Given the description of an element on the screen output the (x, y) to click on. 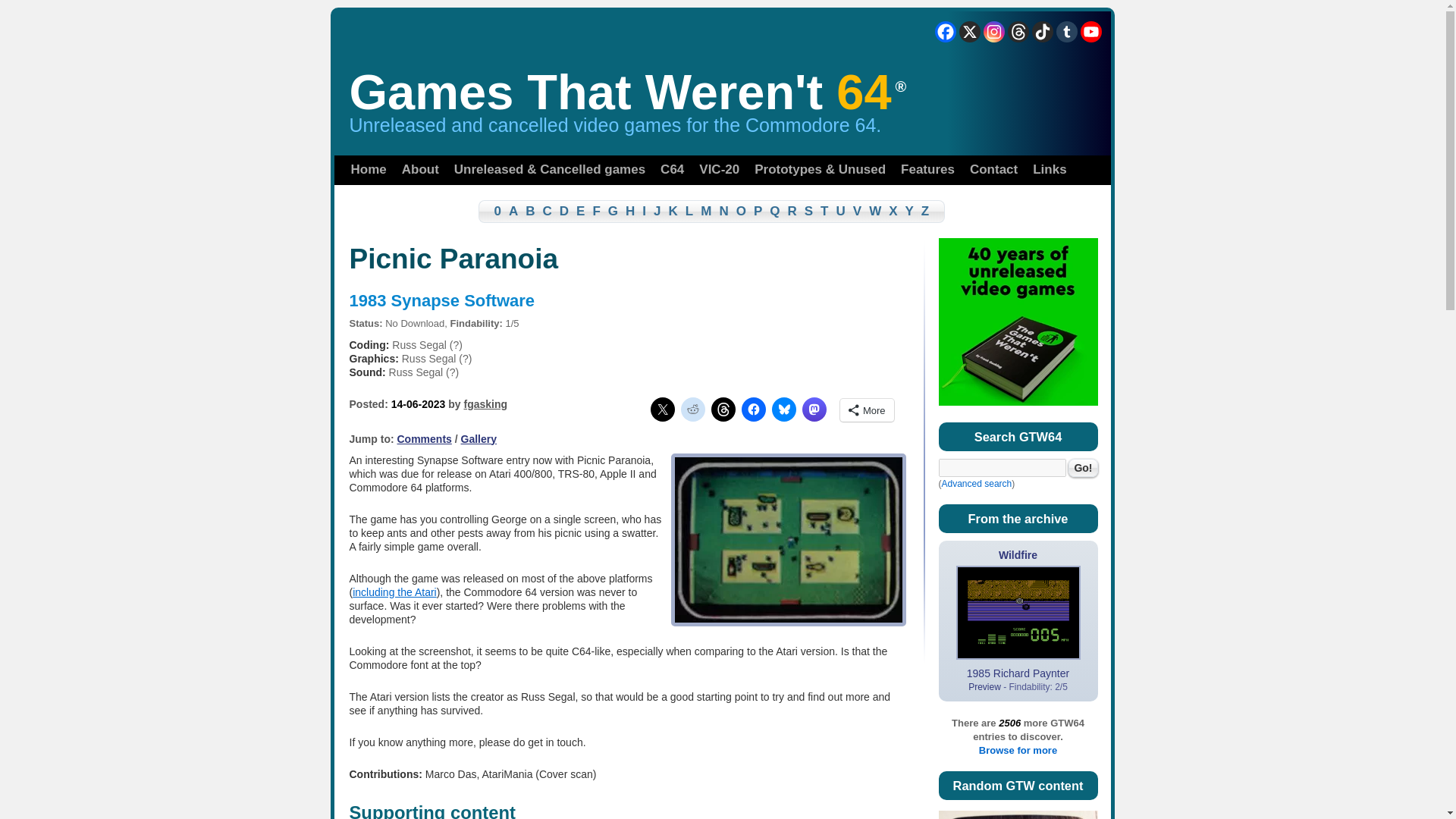
M (705, 210)
Home (367, 169)
F (596, 210)
About (420, 169)
Facebook (944, 31)
Contact (993, 169)
E (580, 210)
B (529, 210)
0 (490, 210)
Go! (1082, 467)
C (547, 210)
VIC-20 (718, 169)
X (968, 31)
Youtube Channel (1090, 31)
J (656, 210)
